Given the description of an element on the screen output the (x, y) to click on. 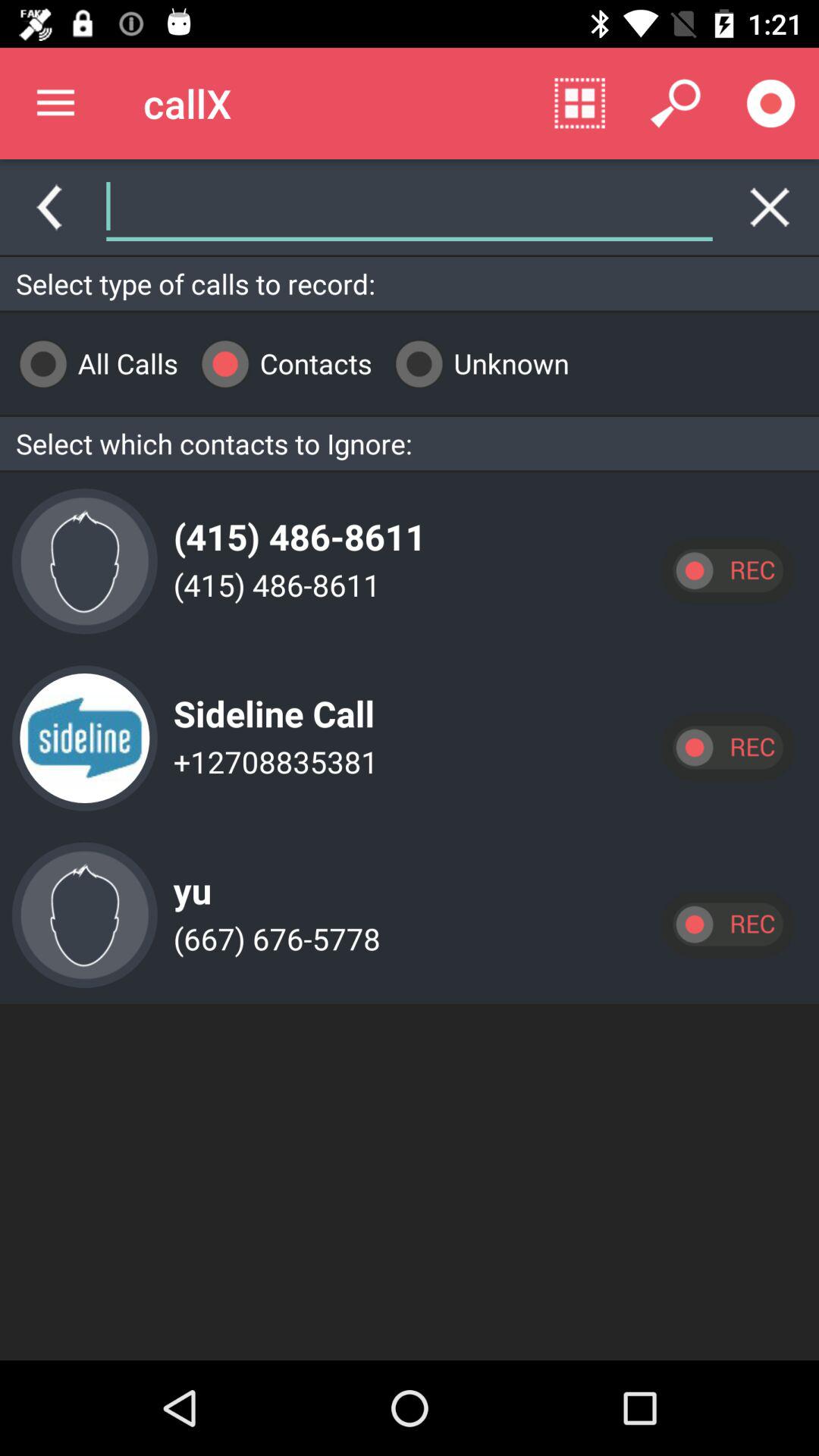
record (727, 924)
